Given the description of an element on the screen output the (x, y) to click on. 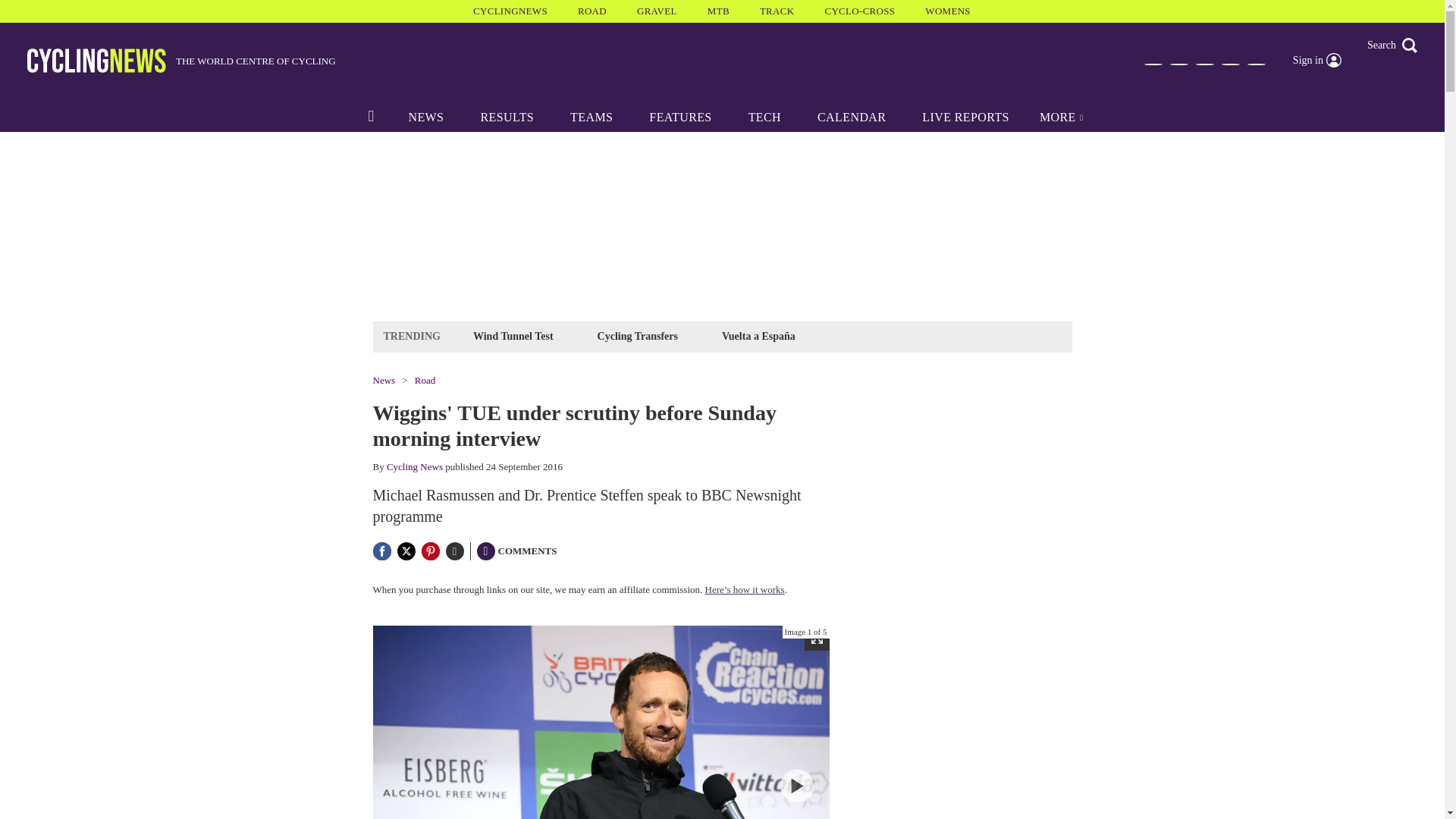
MTB (718, 10)
RESULTS (506, 117)
CALENDAR (851, 117)
LIVE REPORTS (965, 117)
CYCLO-CROSS (859, 10)
TEAMS (590, 117)
Cycling News (414, 466)
TECH (764, 117)
ROAD (592, 10)
Wind Tunnel Test (513, 336)
